Given the description of an element on the screen output the (x, y) to click on. 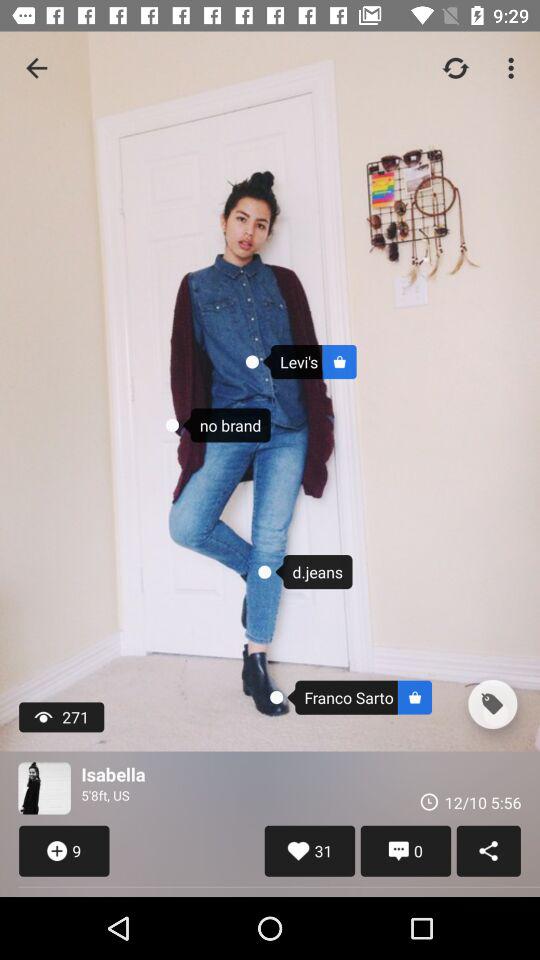
view shopping results (492, 704)
